Given the description of an element on the screen output the (x, y) to click on. 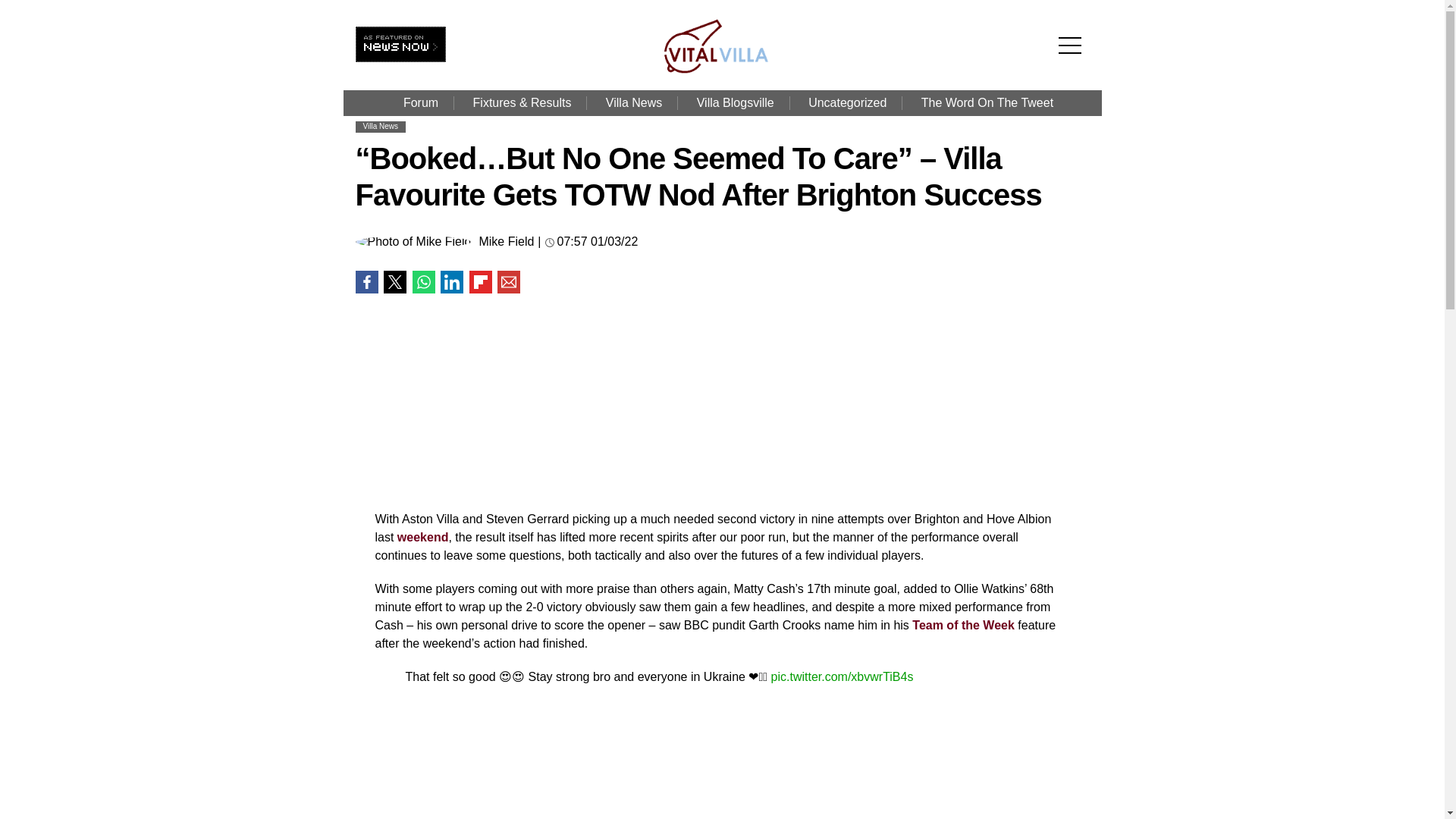
Villa Blogsville (735, 102)
share on LinkedIn (452, 282)
share on Email (508, 282)
Back to the homepage (725, 69)
share on Facebook (366, 282)
Villa News (379, 126)
share on Twitter (395, 282)
Villa News (634, 102)
weekend (422, 536)
share on WhatsApp (423, 282)
